Given the description of an element on the screen output the (x, y) to click on. 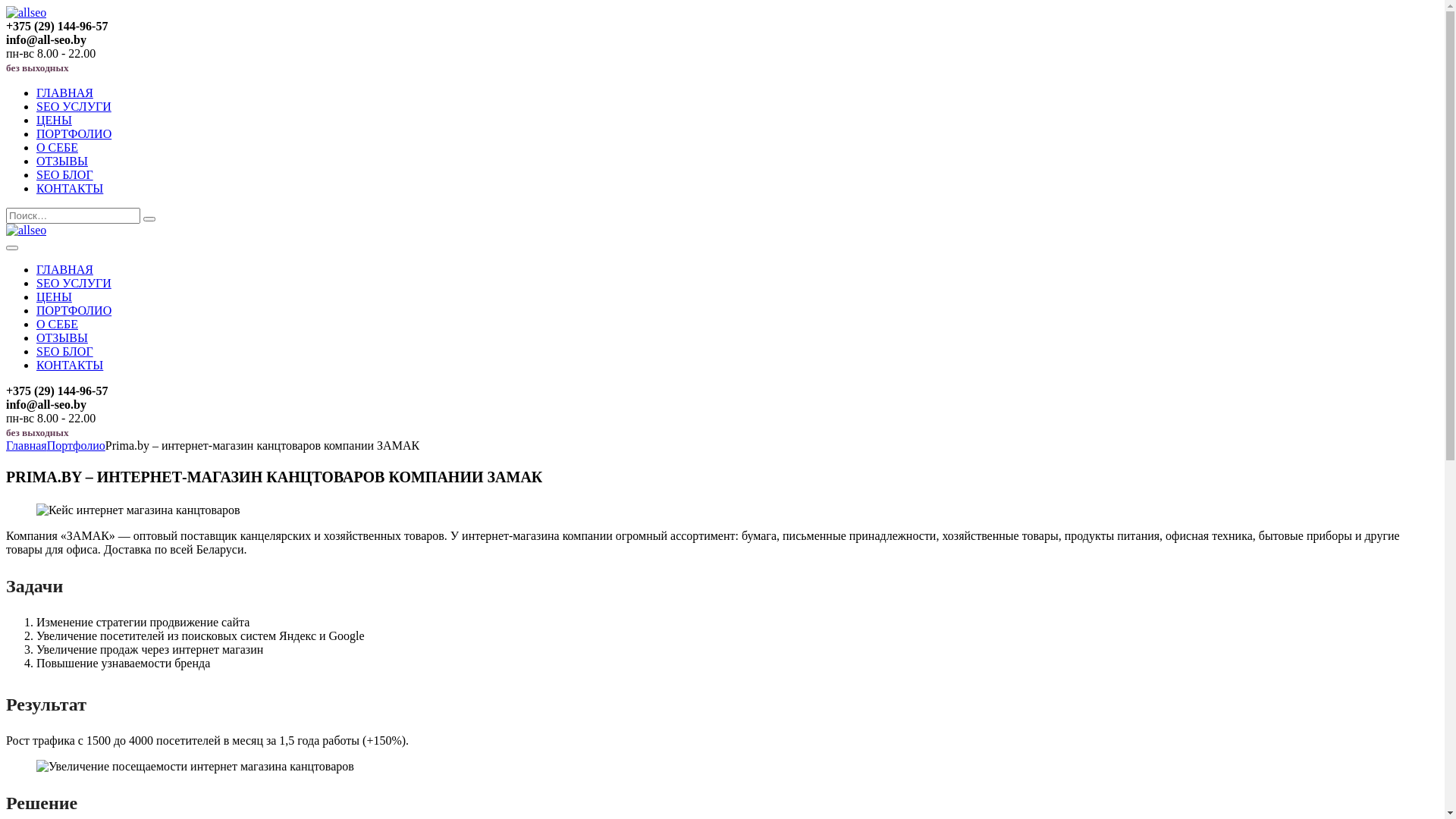
metrika-prima Element type: hover (195, 766)
skrin-prima Element type: hover (138, 510)
